Given the description of an element on the screen output the (x, y) to click on. 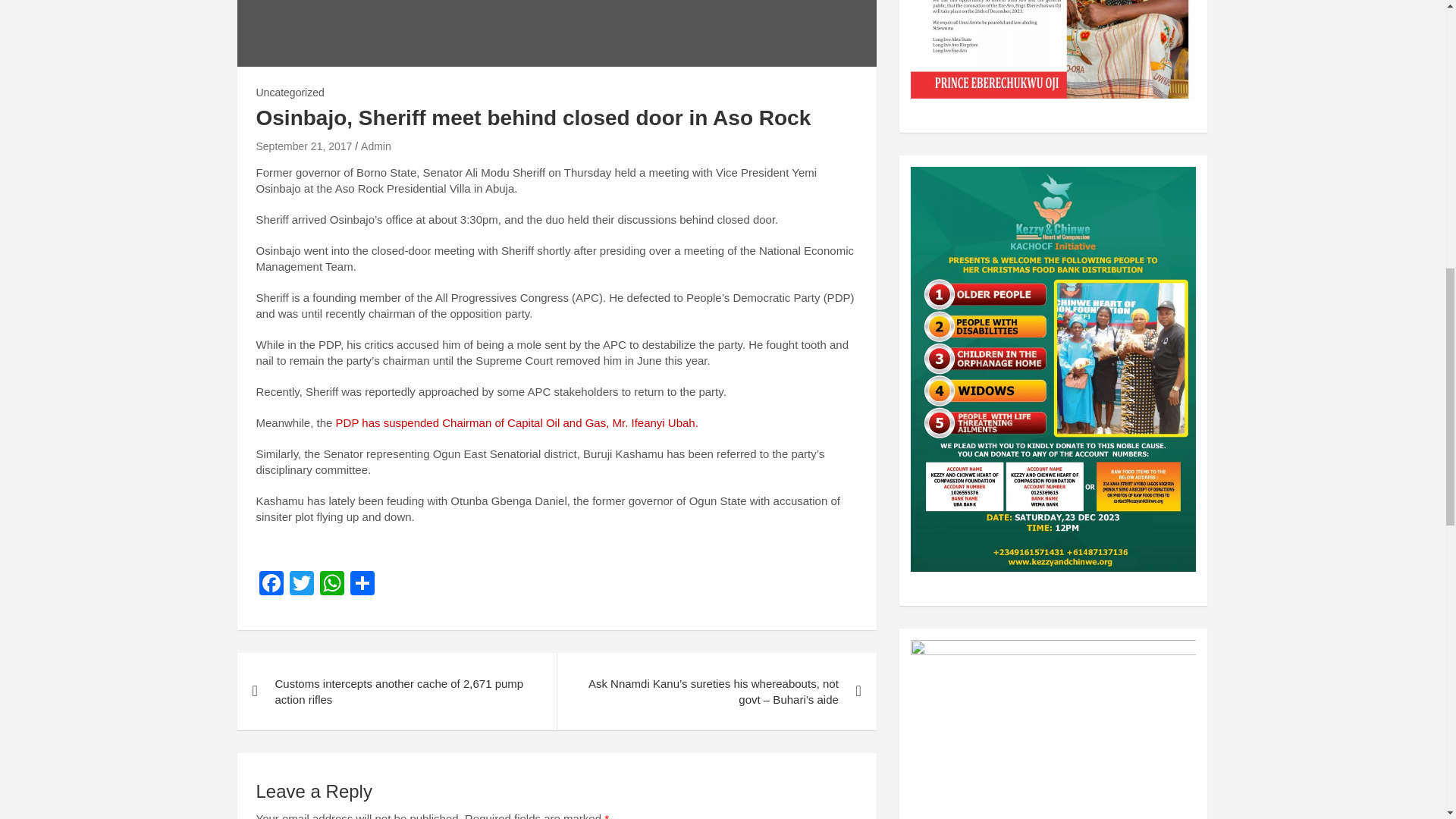
Admin (376, 146)
September 21, 2017 (304, 146)
Twitter (301, 584)
WhatsApp (332, 584)
Osinbajo, Sheriff meet behind closed door in Aso Rock (304, 146)
Customs intercepts another cache of 2,671 pump action rifles (395, 691)
Facebook (271, 584)
WhatsApp (332, 584)
Twitter (301, 584)
Facebook (271, 584)
Share (362, 584)
